Given the description of an element on the screen output the (x, y) to click on. 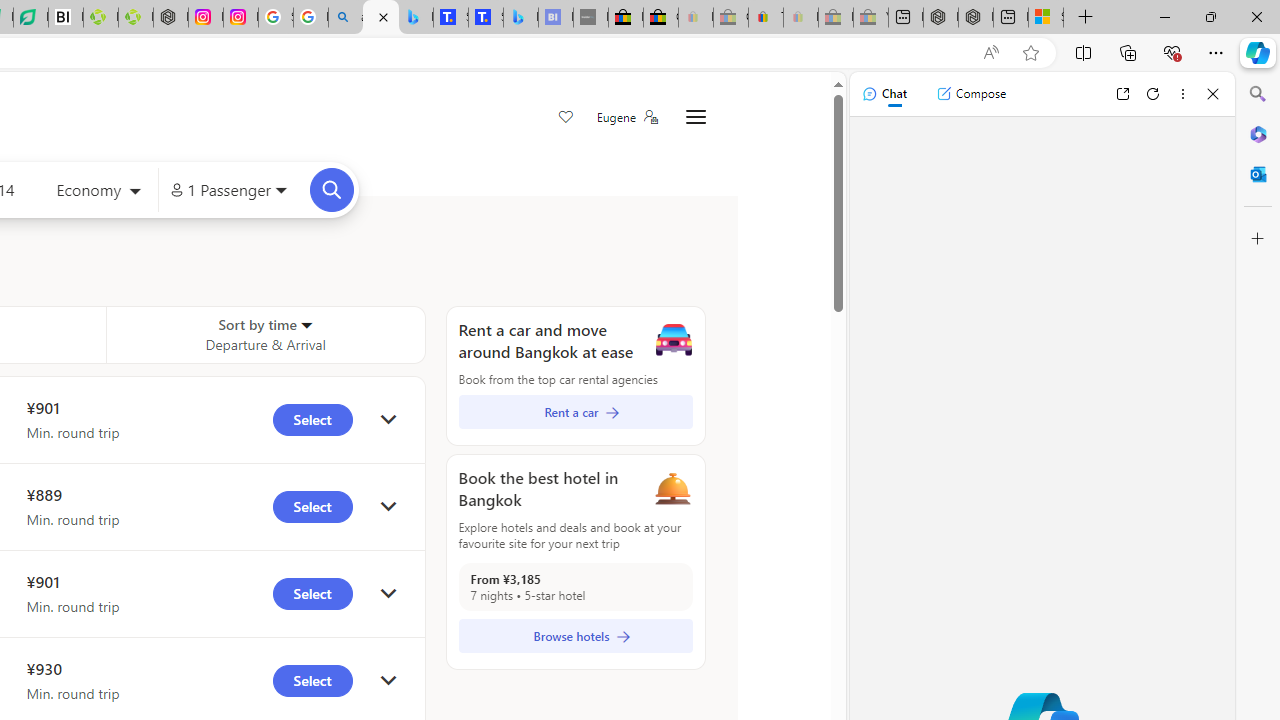
Save (565, 118)
Microsoft Bing Travel - Shangri-La Hotel Bangkok (520, 17)
Compose (971, 93)
1 Passenger (228, 189)
Sort by time Sorter Departure & Arrival (265, 334)
